Given the description of an element on the screen output the (x, y) to click on. 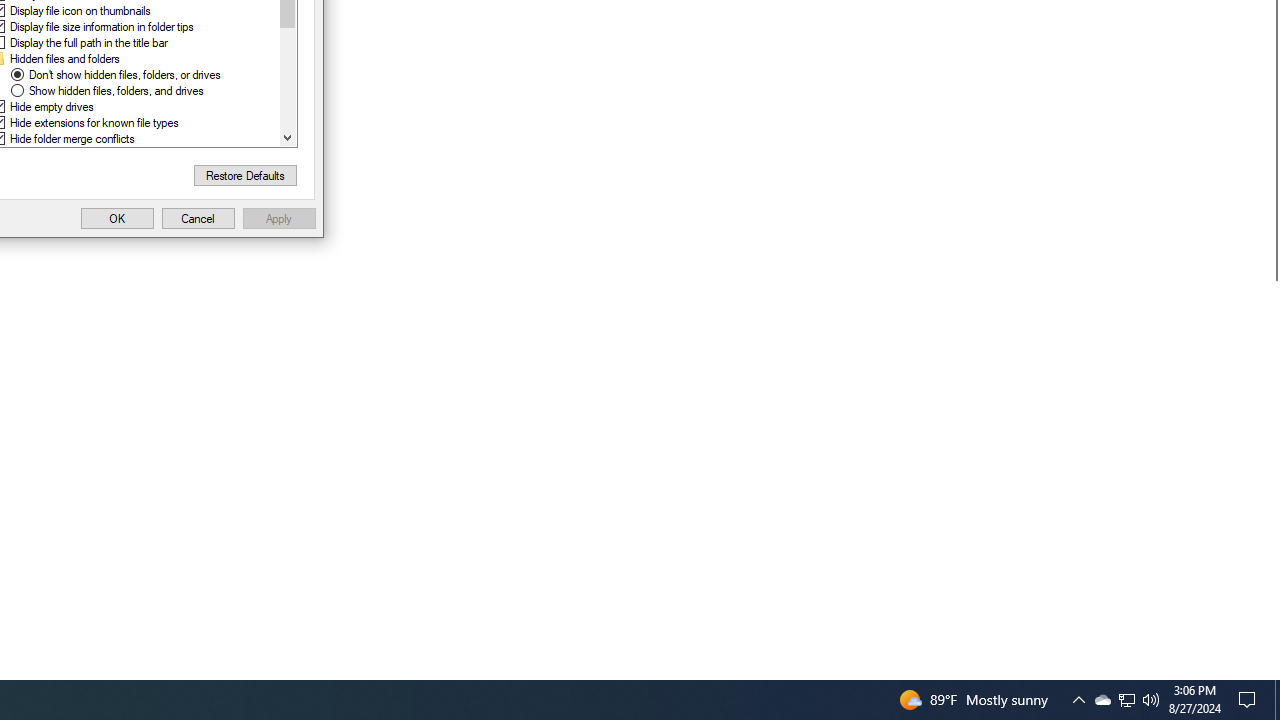
Apply (279, 218)
Hide folder merge conflicts (71, 138)
Display the full path in the title bar (88, 43)
Line down (287, 137)
Hidden files and folders (64, 58)
Restore Defaults (245, 175)
